Given the description of an element on the screen output the (x, y) to click on. 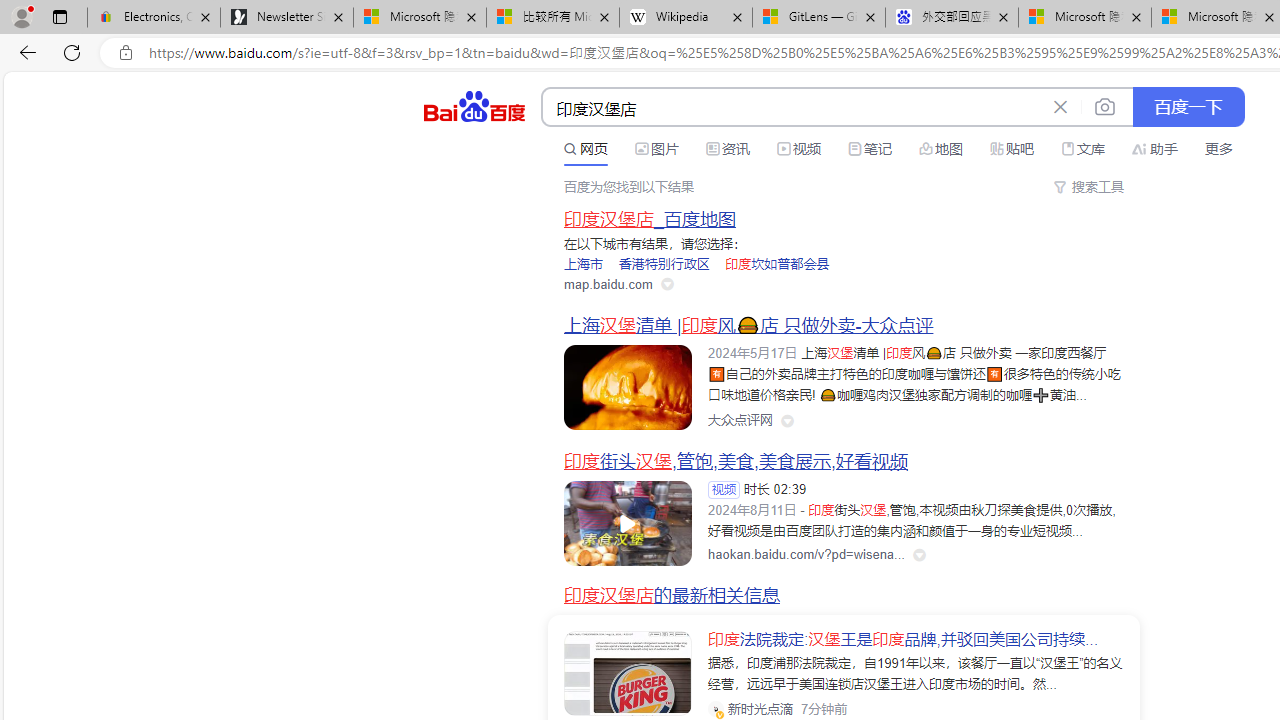
Newsletter Sign Up (287, 17)
Class: siteLink_9TPP3 (740, 421)
